Given the description of an element on the screen output the (x, y) to click on. 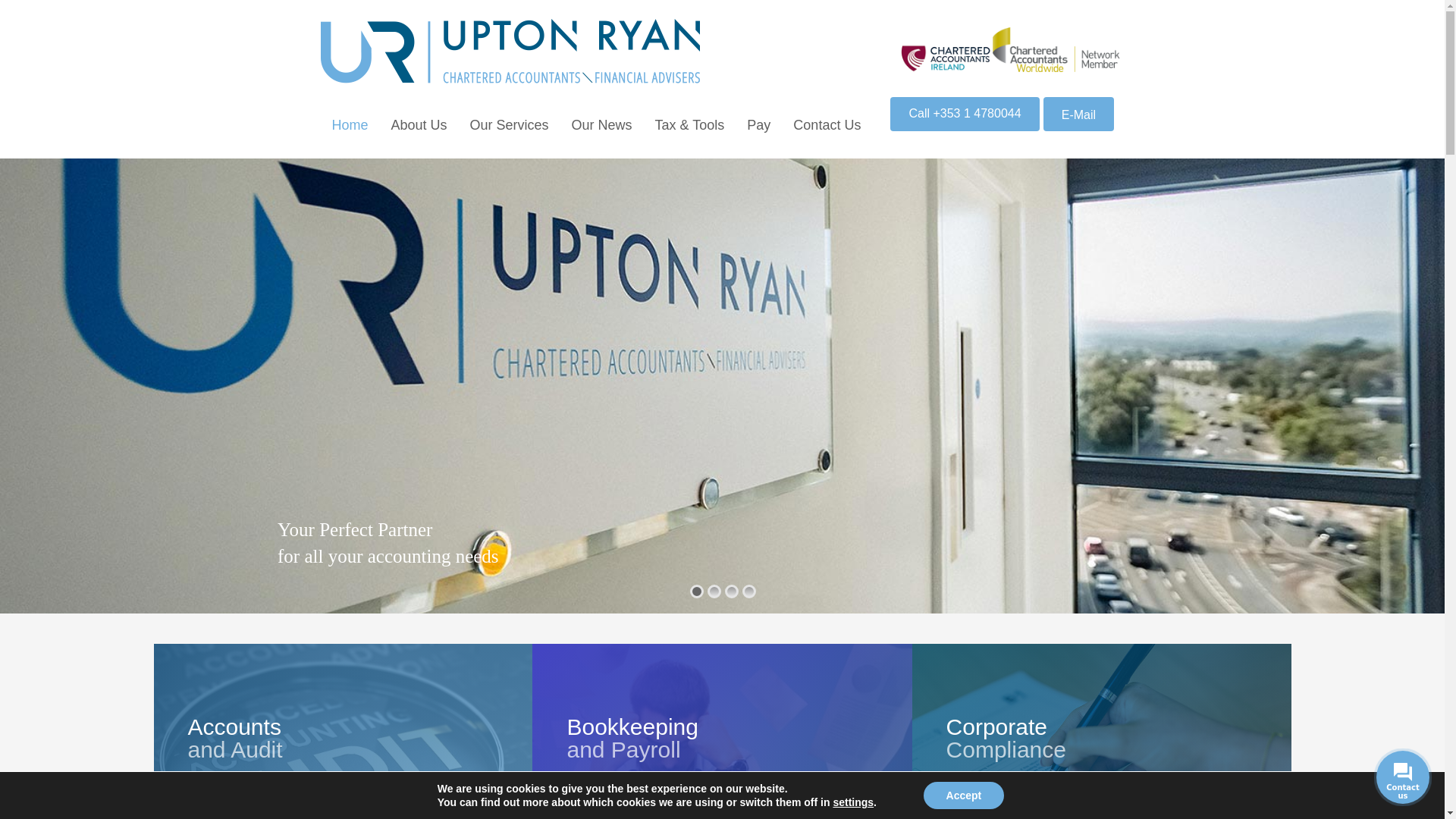
Our Services (509, 124)
Contact Us (826, 124)
About Us (419, 124)
UPTON-RYAN-LOGOS (1010, 51)
Pay (758, 124)
Home (349, 124)
E-Mail (1078, 114)
Our News (602, 124)
